Given the description of an element on the screen output the (x, y) to click on. 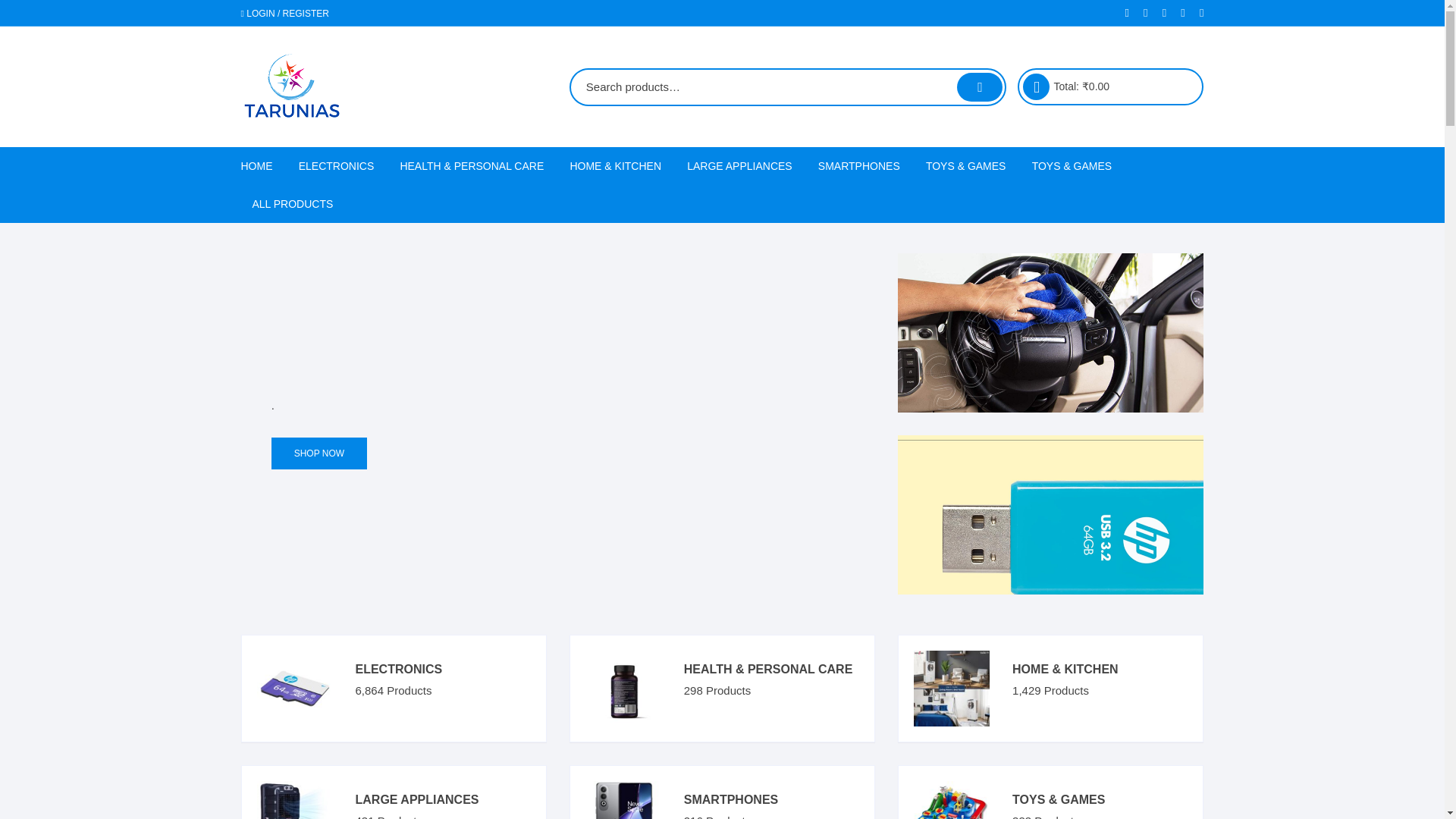
LARGE APPLIANCES (739, 166)
ALL PRODUCTS (293, 203)
HOME (262, 166)
ELECTRONICS (335, 166)
SMARTPHONES (858, 166)
